Given the description of an element on the screen output the (x, y) to click on. 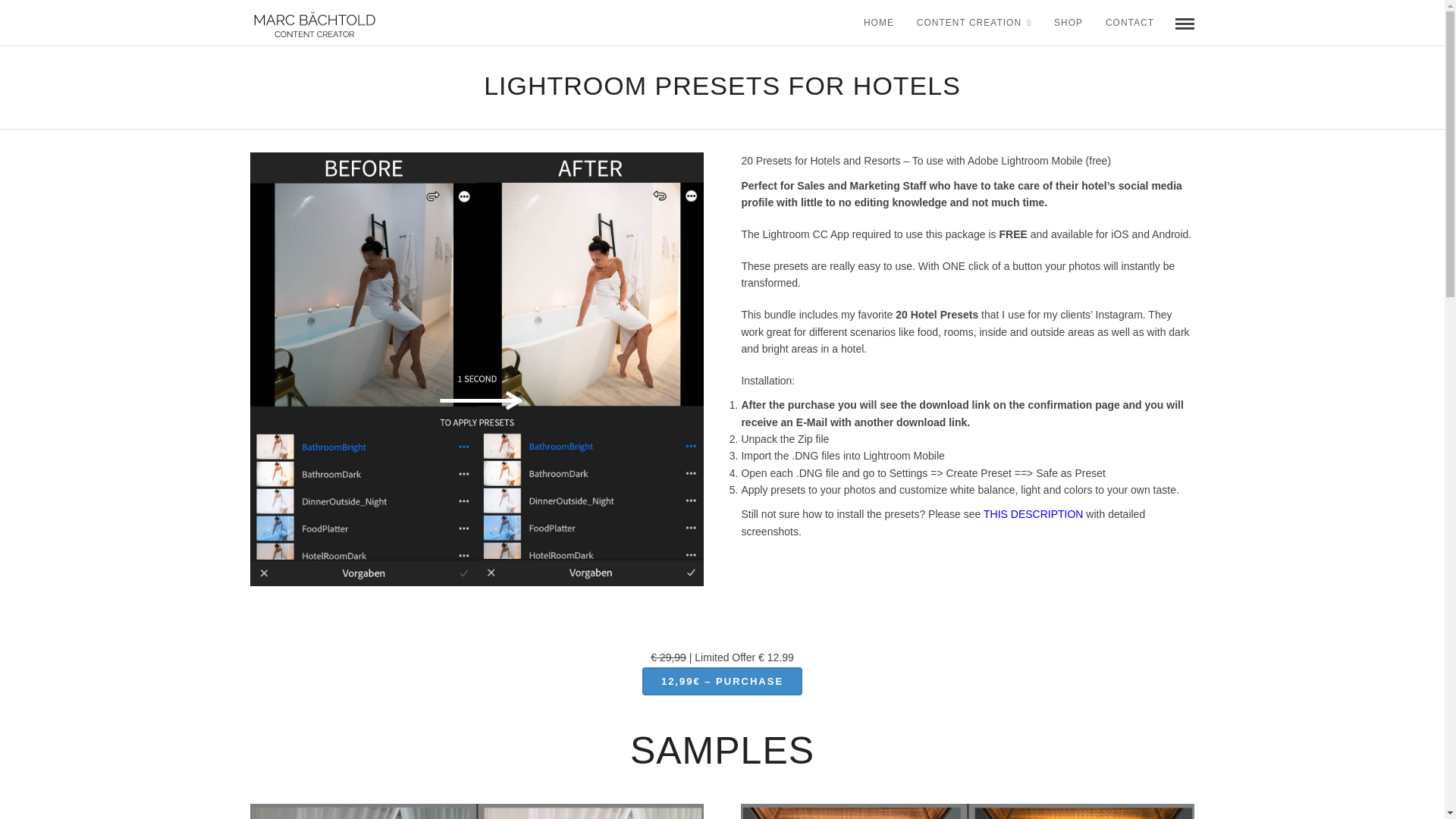
SHOP (1068, 23)
CONTACT (1129, 23)
HOME (878, 23)
THIS DESCRIPTION (1033, 513)
CONTENT CREATION (974, 23)
